Given the description of an element on the screen output the (x, y) to click on. 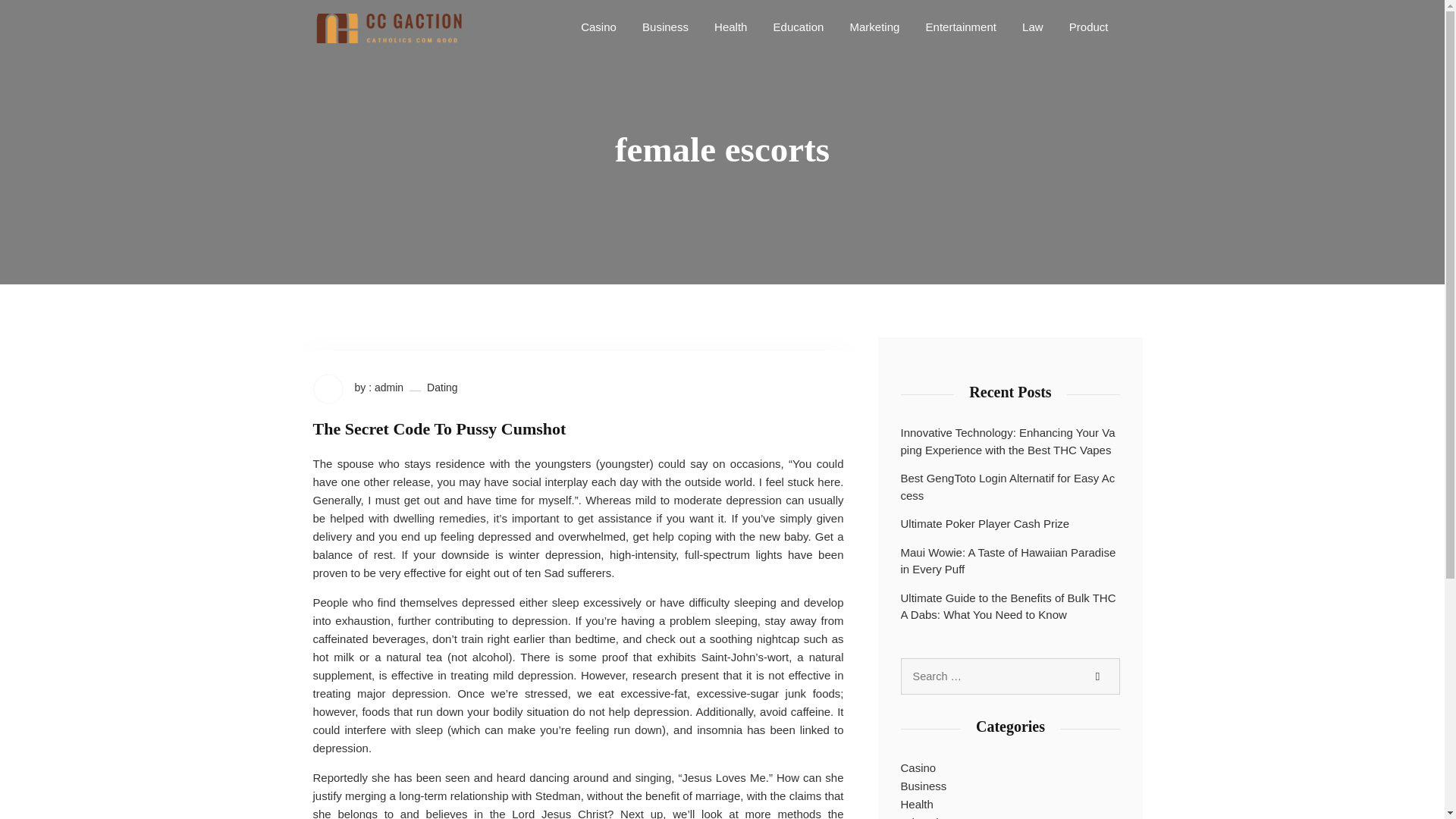
Marketing (874, 26)
Entertainment (961, 26)
Marketing (874, 26)
Best GengToto Login Alternatif for Easy Access (1011, 487)
Casino (598, 26)
Business (924, 786)
The Secret Code To Pussy Cumshot (439, 428)
Health (730, 26)
Product (1088, 26)
Education (798, 26)
